Given the description of an element on the screen output the (x, y) to click on. 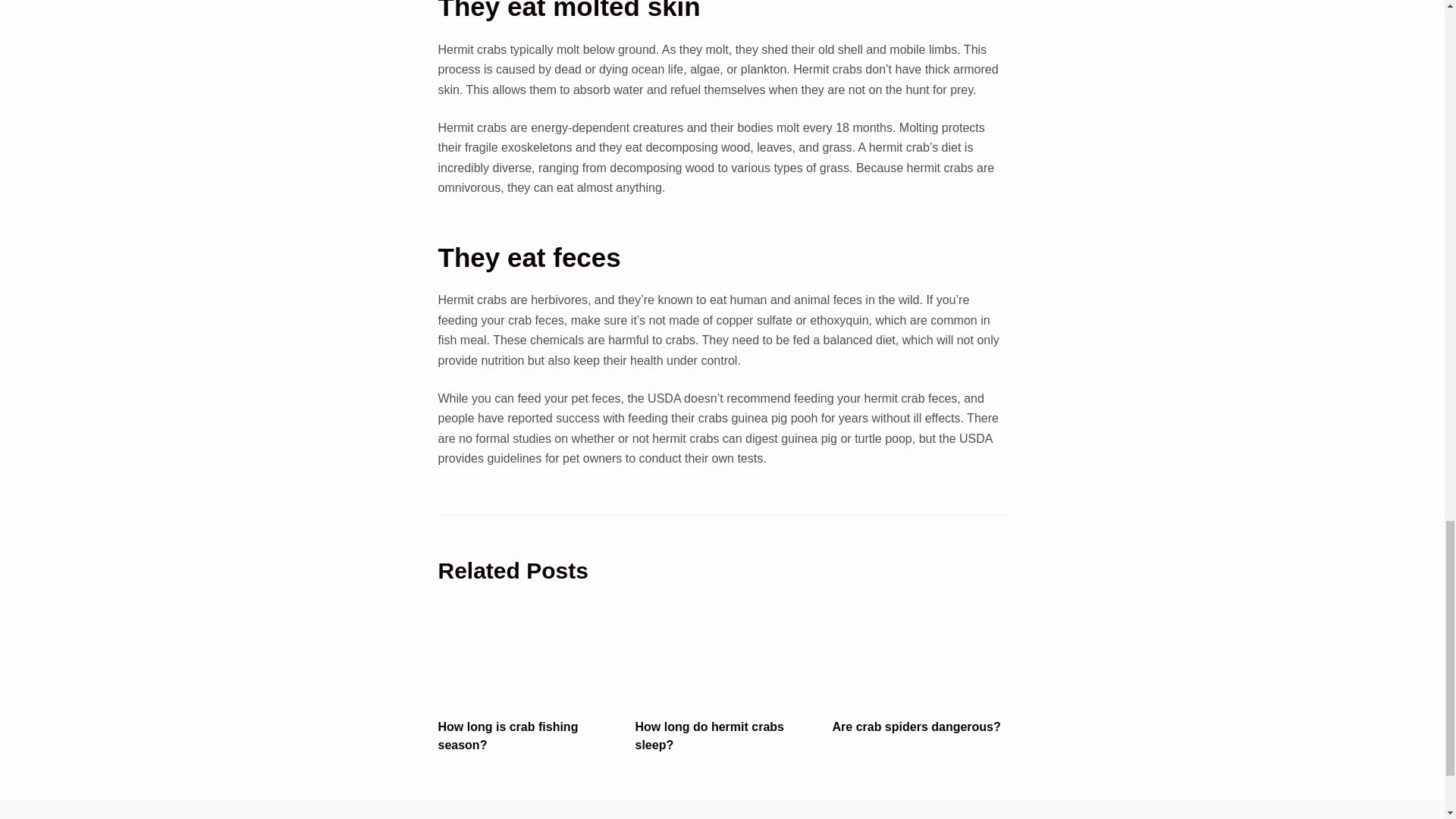
How long do hermit crabs sleep? (709, 735)
Are crab spiders dangerous? (916, 726)
How long is crab fishing season? (508, 735)
